Given the description of an element on the screen output the (x, y) to click on. 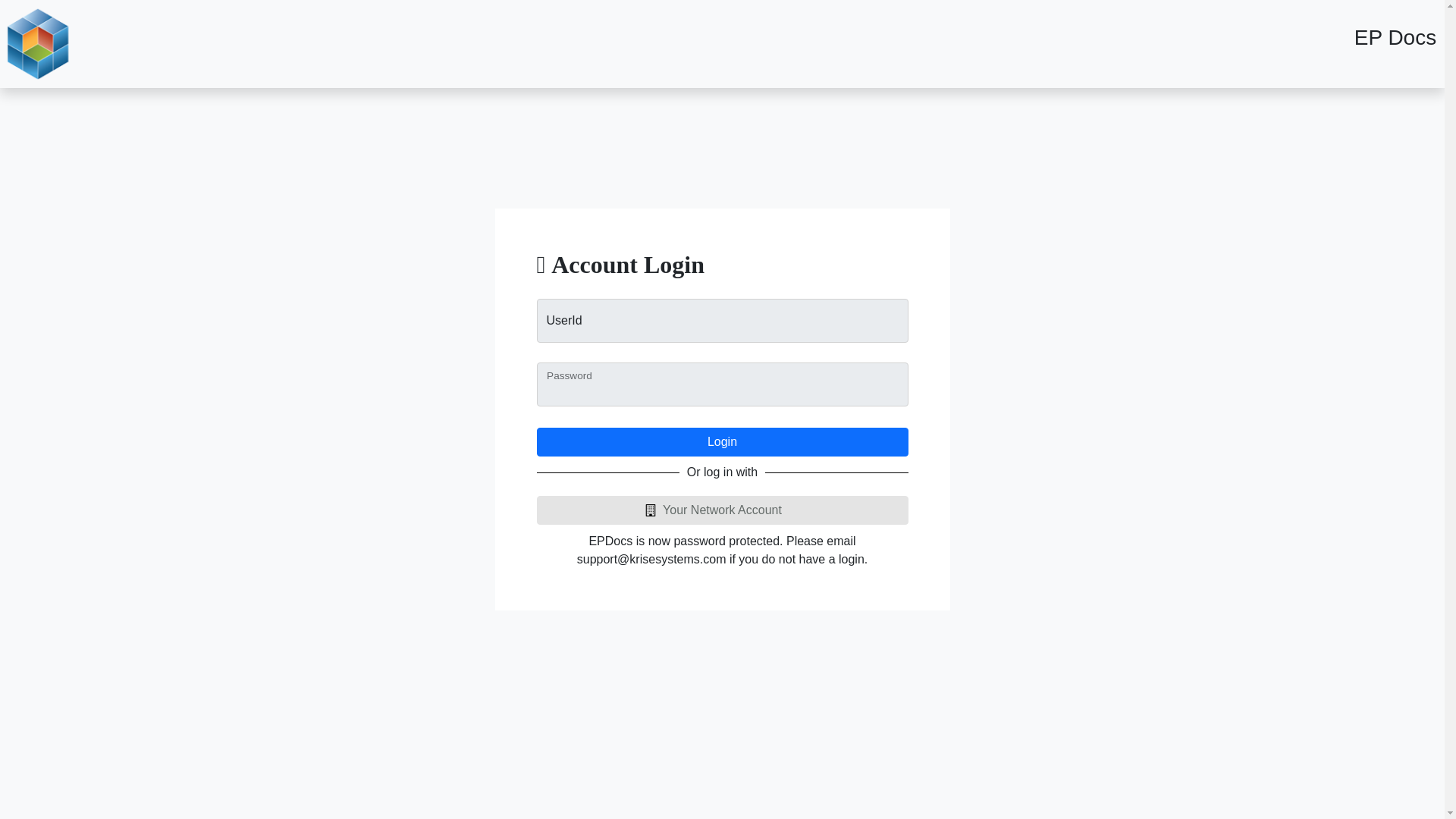
Login (722, 441)
Your Network Account (722, 510)
